Given the description of an element on the screen output the (x, y) to click on. 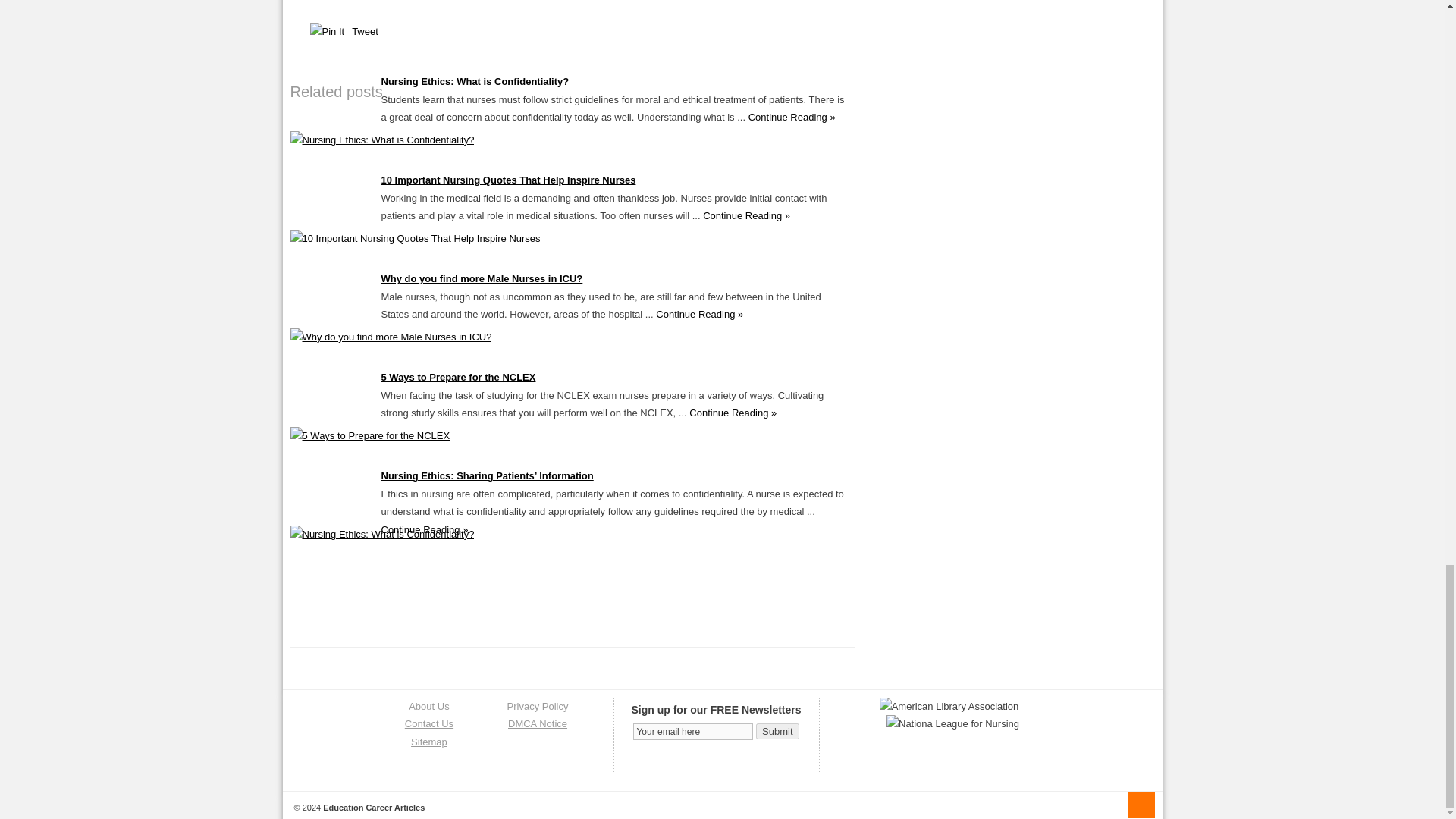
Submit (776, 731)
Tweet (365, 30)
Why do you find more Male Nurses in ICU? (390, 337)
10 Important Nursing Quotes That Help Inspire Nurses (414, 238)
Nursing Ethics: What is Confidentiality? (474, 81)
Your email here (692, 731)
5 Ways to Prepare for the NCLEX (369, 435)
Nursing Ethics: What is Confidentiality? (381, 139)
Pin It (325, 31)
